Given the description of an element on the screen output the (x, y) to click on. 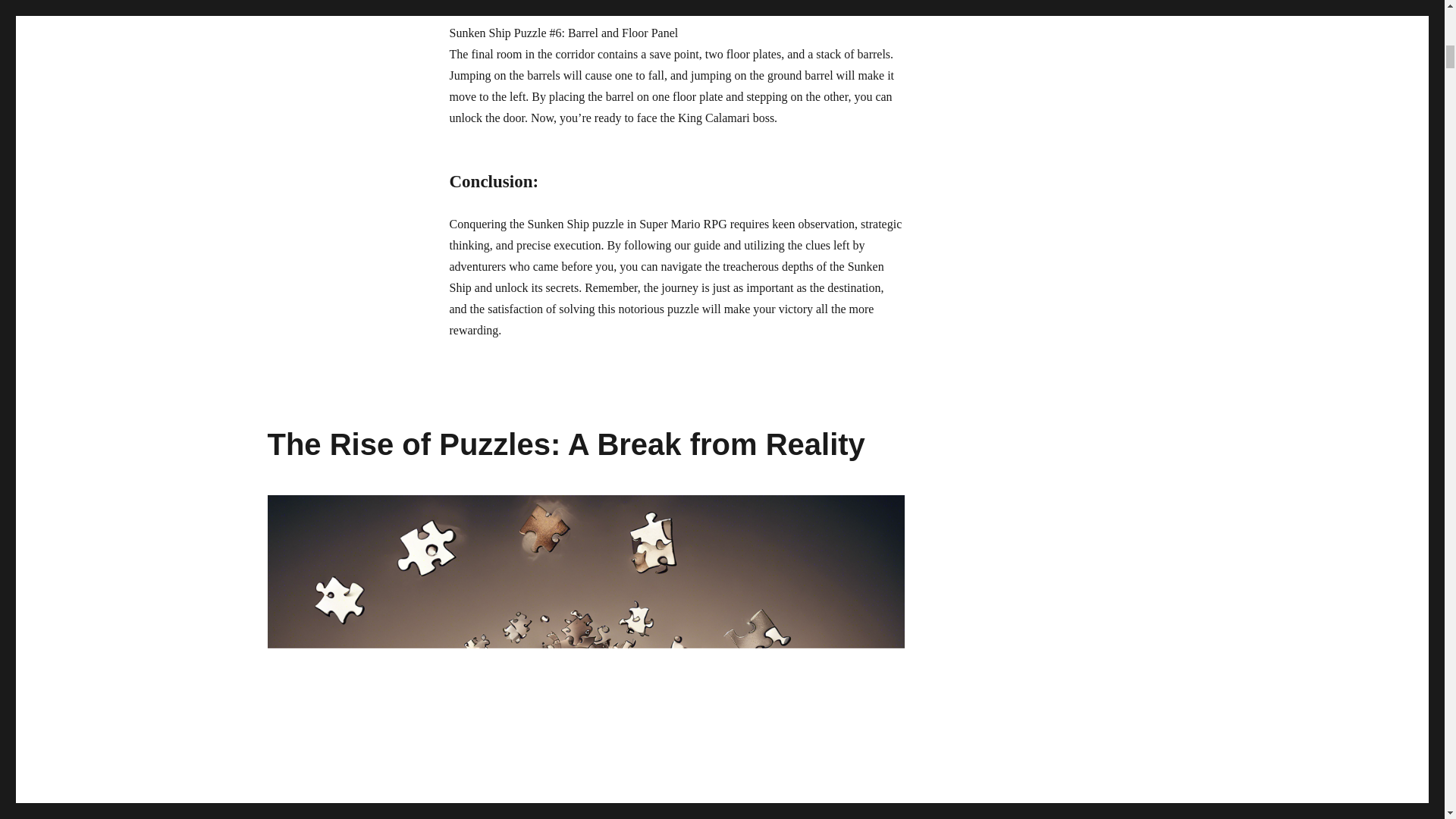
The Rise of Puzzles: A Break from Reality (565, 444)
